Given the description of an element on the screen output the (x, y) to click on. 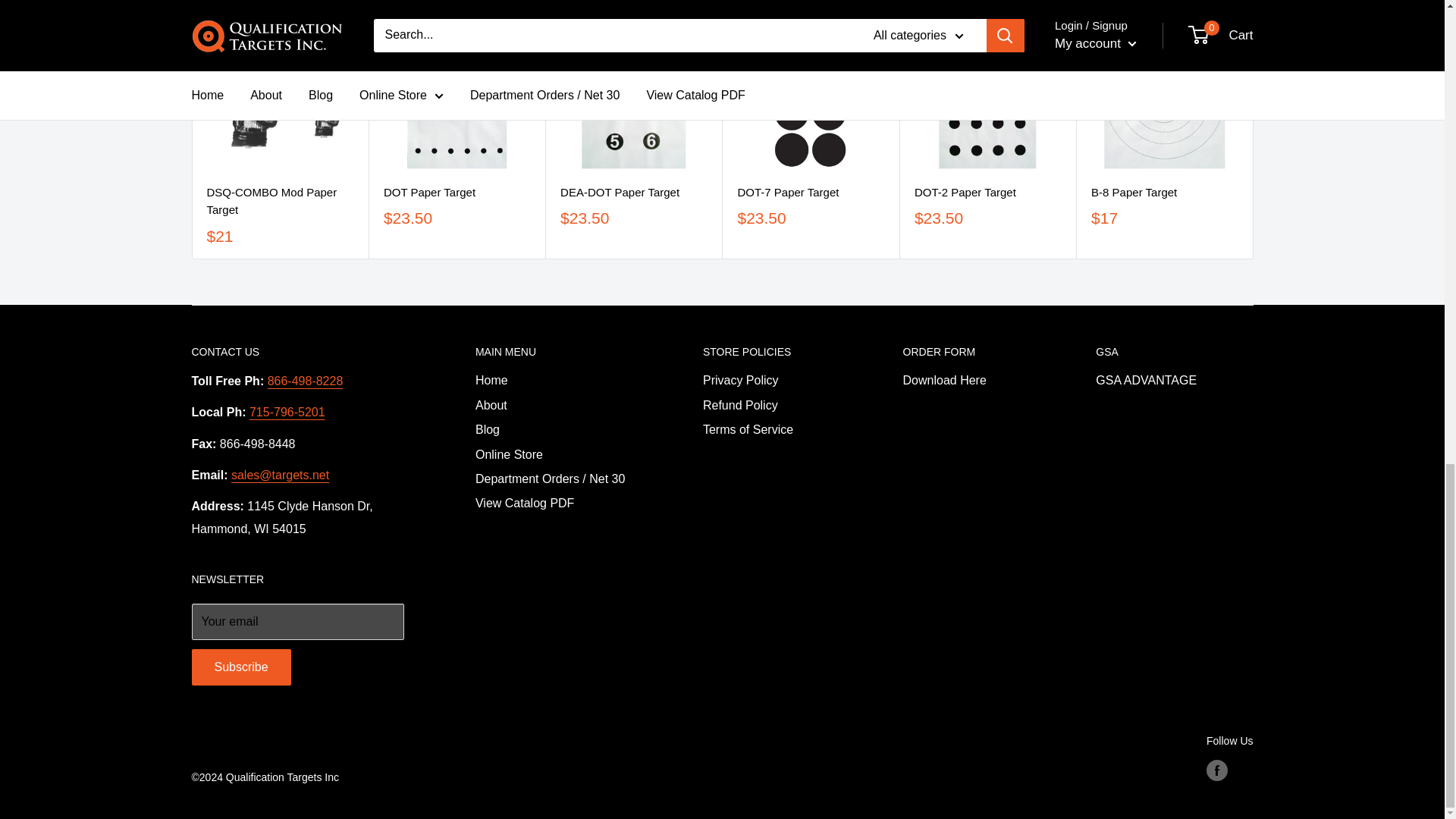
tel:866-498-8228 (305, 380)
tel:715-796-5201 (286, 411)
